Given the description of an element on the screen output the (x, y) to click on. 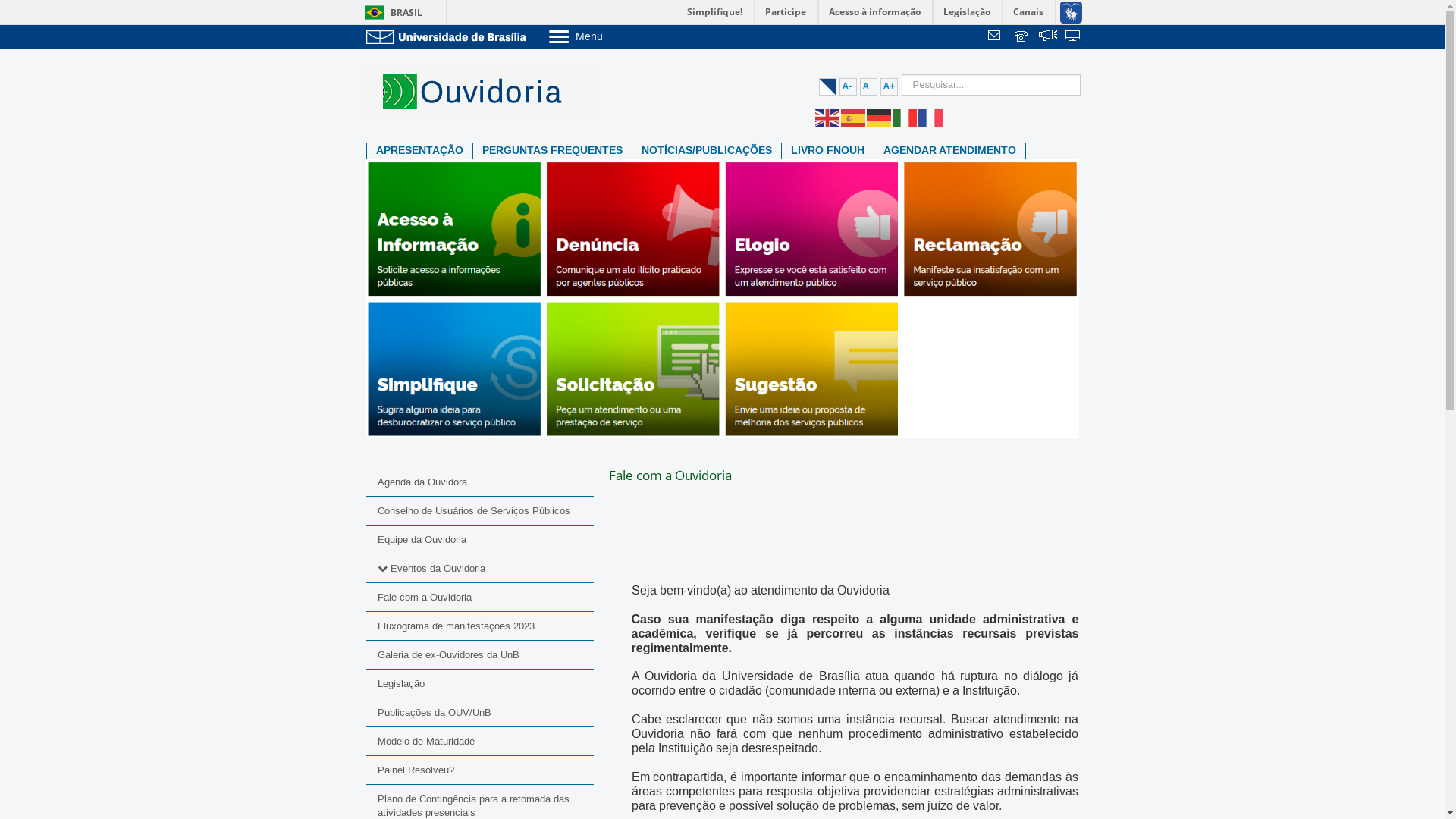
Telefones da UnB Element type: hover (1022, 37)
LIVRO FNOUH Element type: text (826, 150)
Menu Element type: text (613, 35)
Sistemas Element type: hover (1073, 37)
Deutsch Element type: hover (878, 117)
Fala.BR Element type: hover (1047, 37)
PERGUNTAS FREQUENTES Element type: text (552, 150)
  Element type: text (1073, 37)
  Element type: text (996, 37)
BRASIL Element type: text (389, 12)
Eventos da Ouvidoria Element type: text (479, 568)
Ir para o Portal da UnB Element type: hover (448, 36)
Eventos da Ouvidoria Element type: text (436, 568)
AGENDAR ATENDIMENTO Element type: text (948, 150)
A Element type: text (868, 86)
Italiano Element type: hover (904, 117)
Equipe da Ouvidoria Element type: text (479, 539)
A- Element type: text (847, 86)
Webmail Element type: hover (996, 37)
A+ Element type: text (888, 86)
Fale com a Ouvidoria Element type: text (479, 596)
Modelo de Maturidade Element type: text (479, 741)
  Element type: text (1047, 37)
Ouvidoria Element type: hover (721, 297)
Painel Resolveu? Element type: text (479, 769)
Galeria de ex-Ouvidores da UnB Element type: text (479, 654)
  Element type: text (1022, 37)
Agenda da Ouvidora Element type: text (479, 481)
English Element type: hover (827, 117)
